Given the description of an element on the screen output the (x, y) to click on. 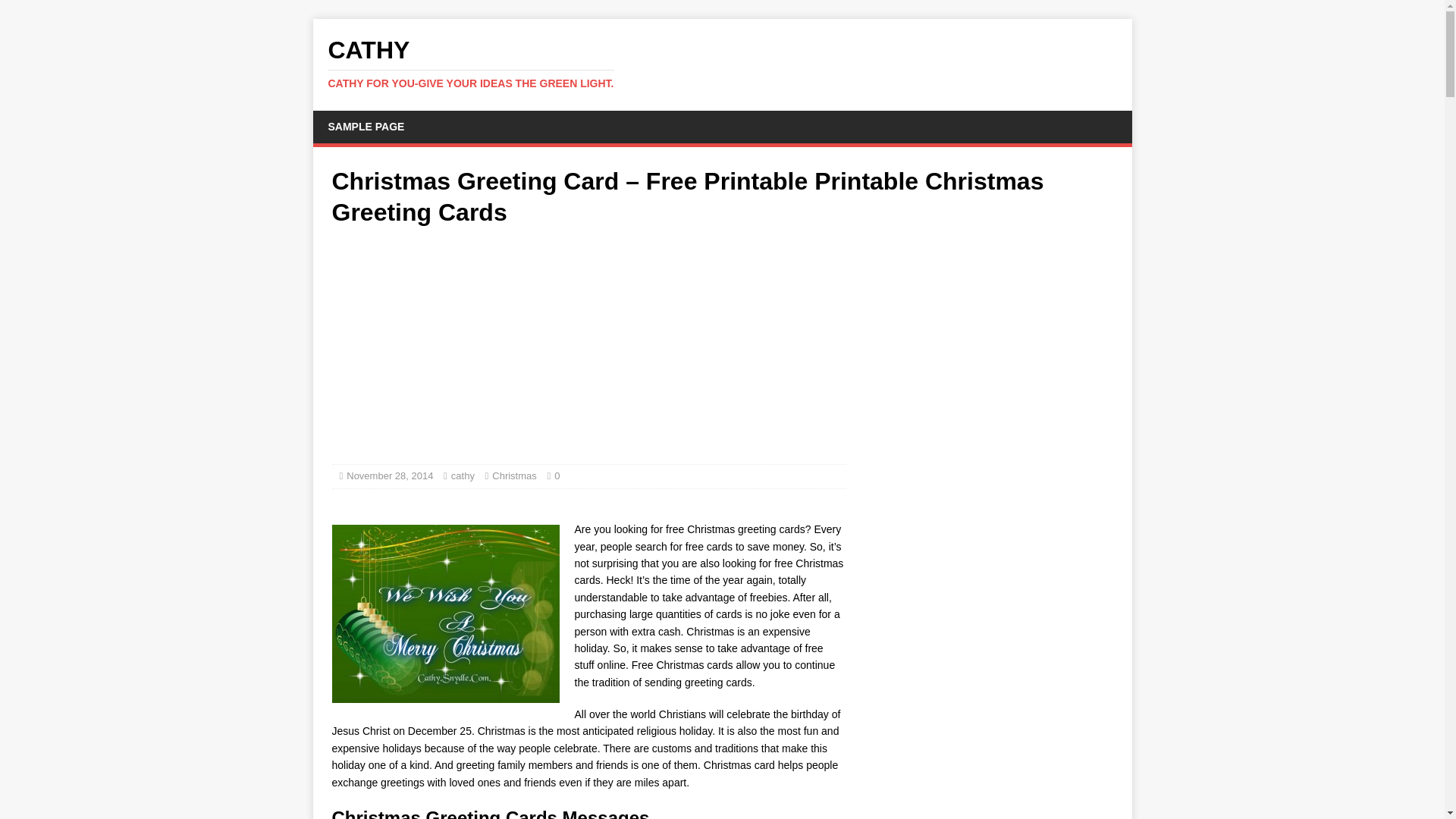
Advertisement (509, 495)
Cathy (721, 63)
SAMPLE PAGE (721, 63)
Advertisement (366, 126)
cathy (389, 475)
Christmas (462, 475)
